Given the description of an element on the screen output the (x, y) to click on. 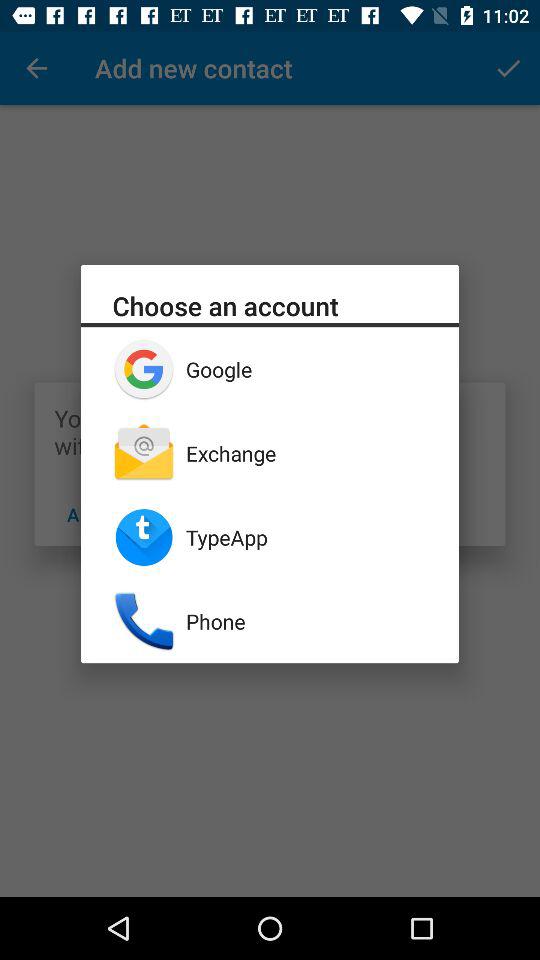
scroll to the exchange icon (306, 453)
